Given the description of an element on the screen output the (x, y) to click on. 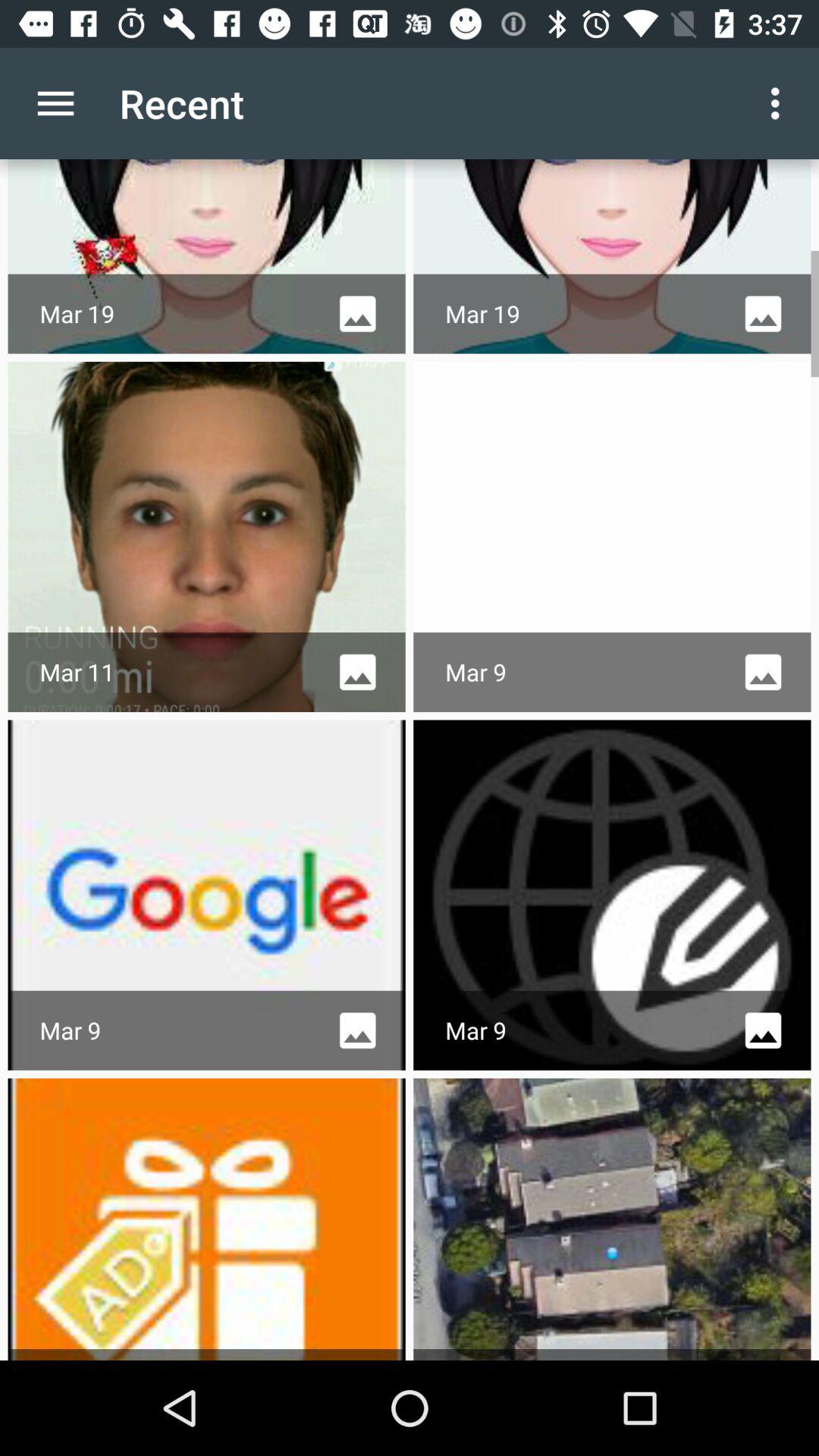
select the item next to recent icon (55, 103)
